Given the description of an element on the screen output the (x, y) to click on. 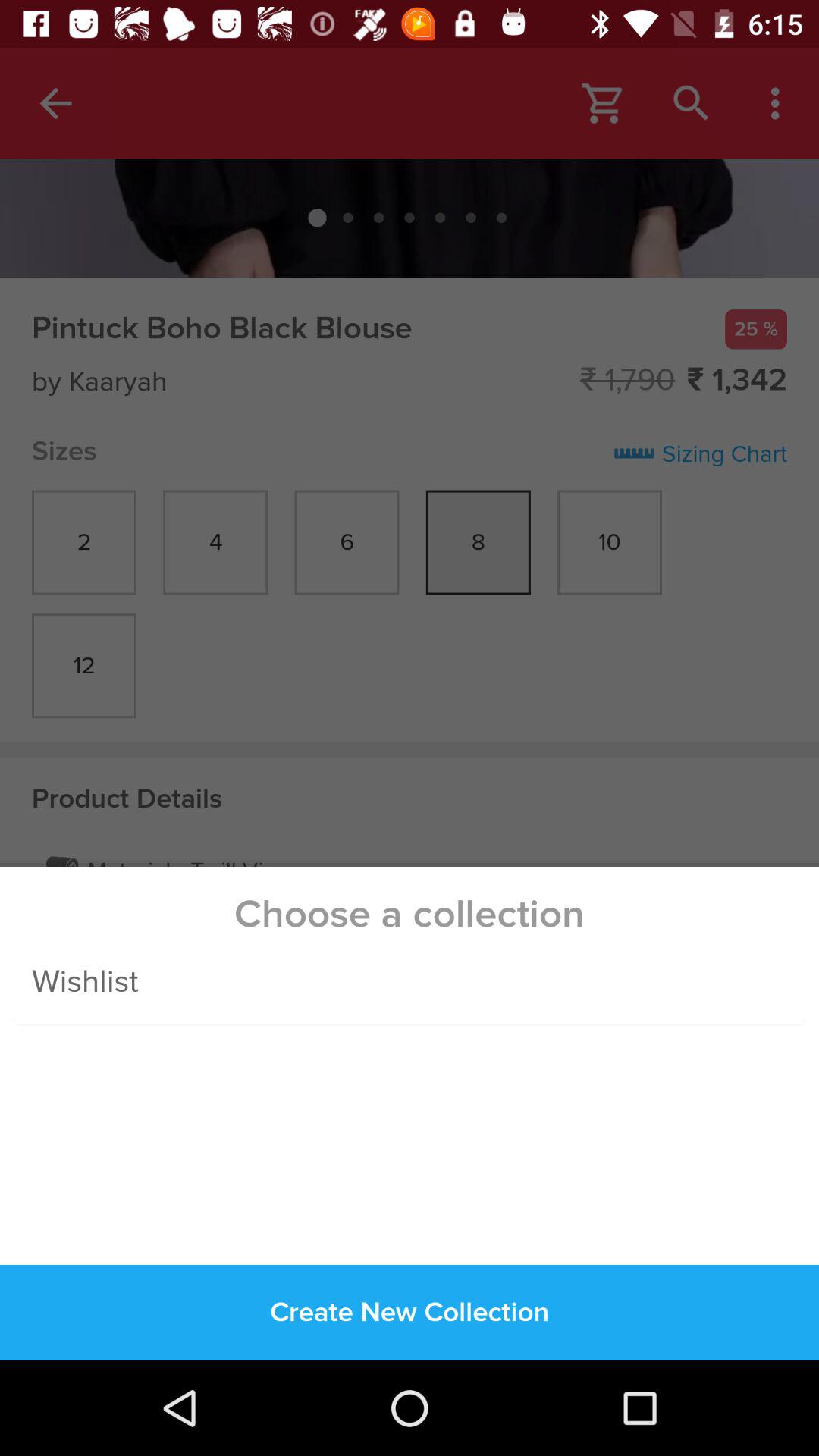
select item above the choose a collection (409, 456)
